Given the description of an element on the screen output the (x, y) to click on. 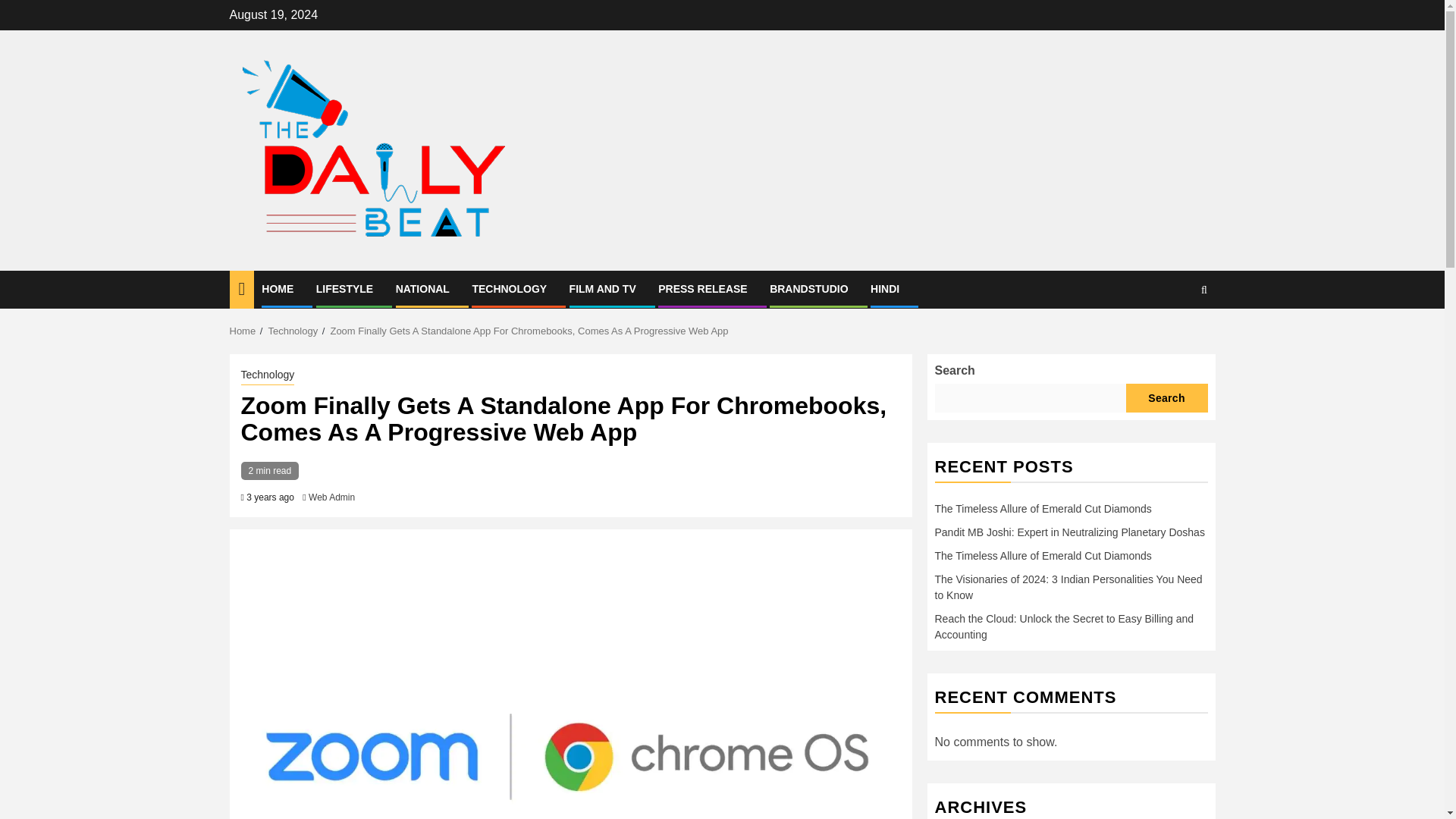
PRESS RELEASE (702, 288)
HINDI (884, 288)
Search (1174, 335)
Web Admin (331, 497)
LIFESTYLE (343, 288)
BRANDSTUDIO (808, 288)
HOME (278, 288)
Technology (268, 375)
FILM AND TV (602, 288)
